Given the description of an element on the screen output the (x, y) to click on. 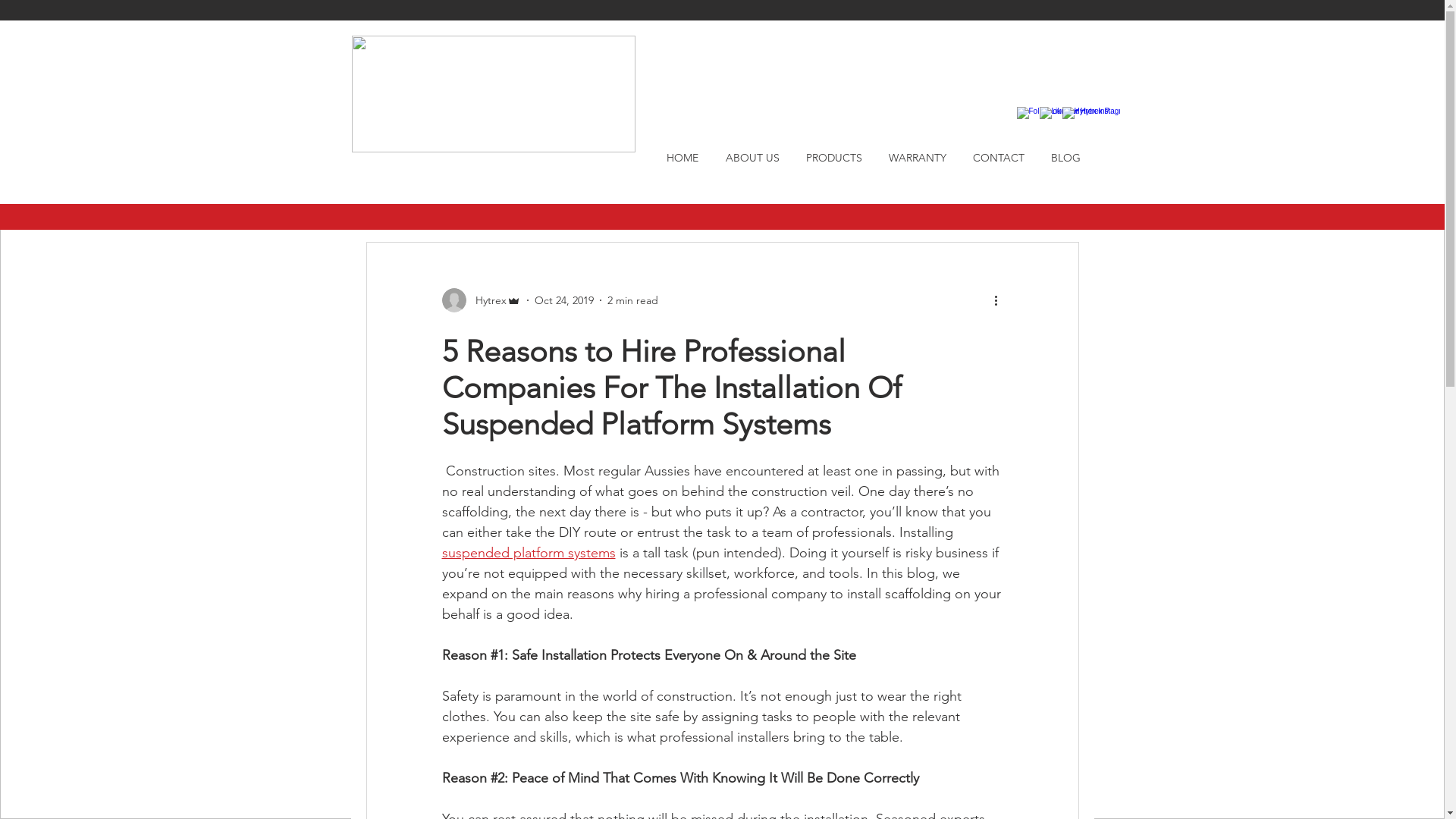
suspended platform systems Element type: text (528, 552)
ABOUT US Element type: text (751, 157)
WARRANTY Element type: text (917, 157)
CONTACT Element type: text (999, 157)
BLOG Element type: text (1065, 157)
HOME Element type: text (681, 157)
